Given the description of an element on the screen output the (x, y) to click on. 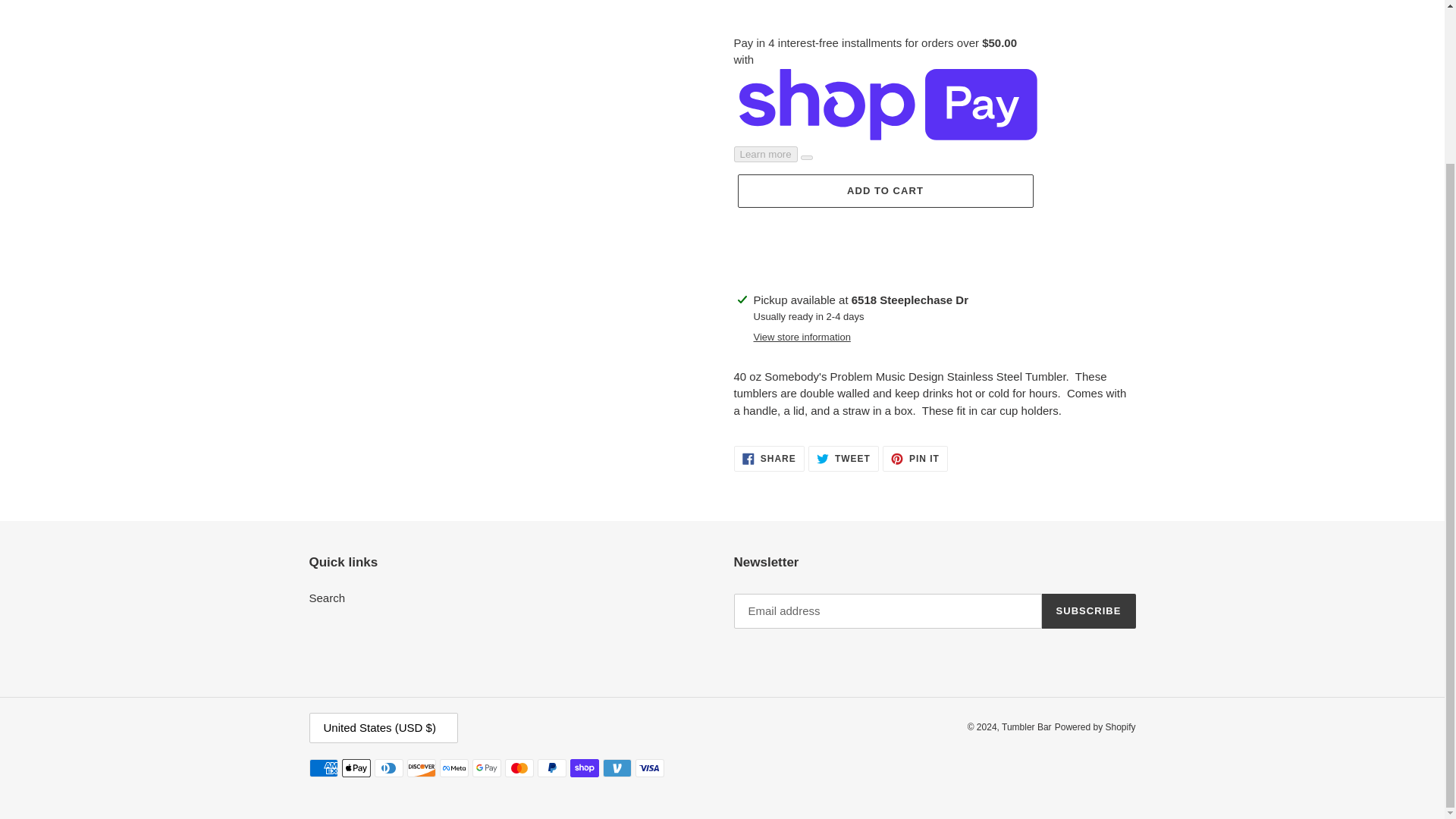
SUBSCRIBE (1088, 610)
Search (327, 597)
ADD TO CART (843, 458)
View store information (884, 191)
